Given the description of an element on the screen output the (x, y) to click on. 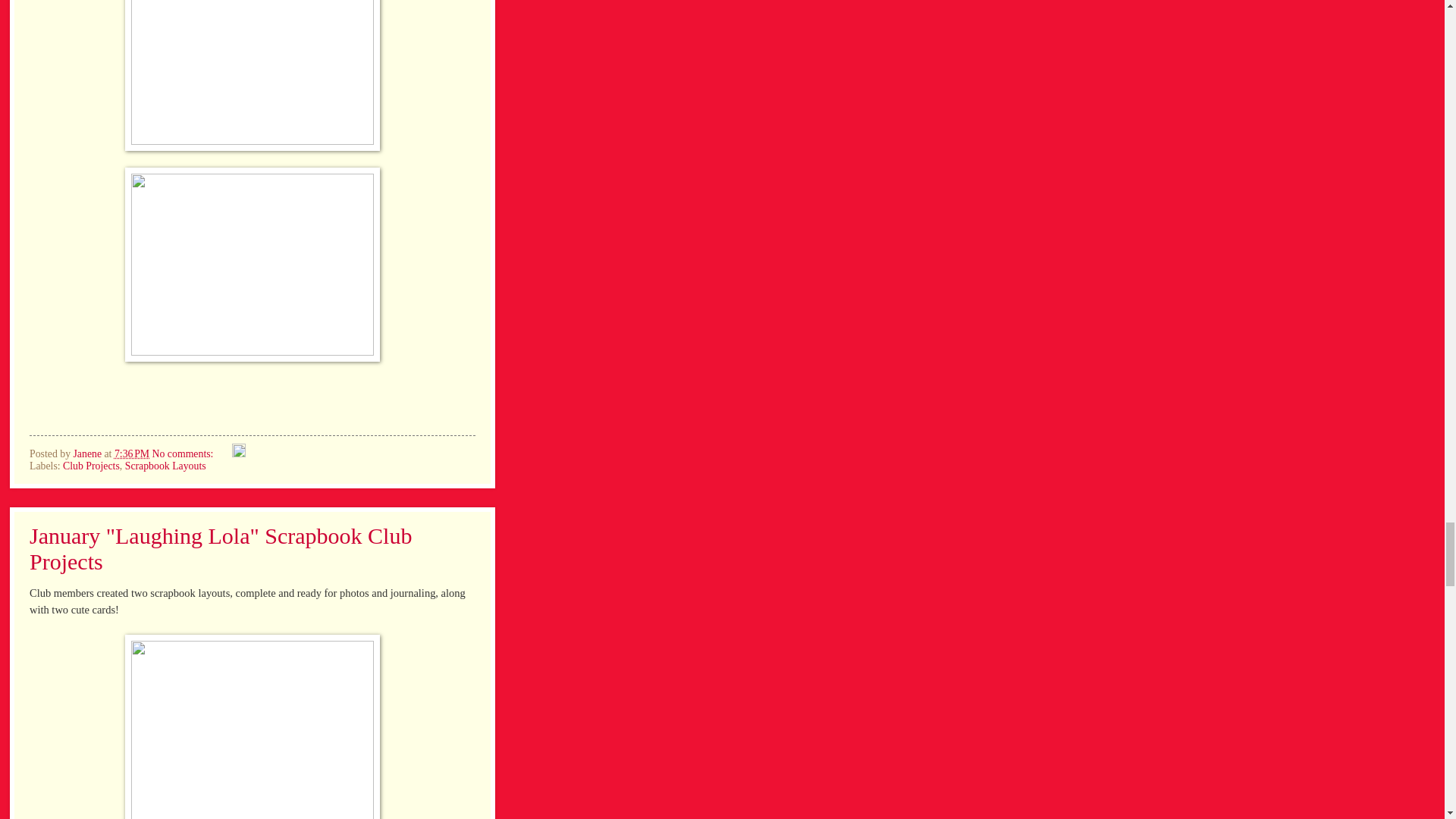
permanent link (132, 453)
author profile (87, 453)
